Given the description of an element on the screen output the (x, y) to click on. 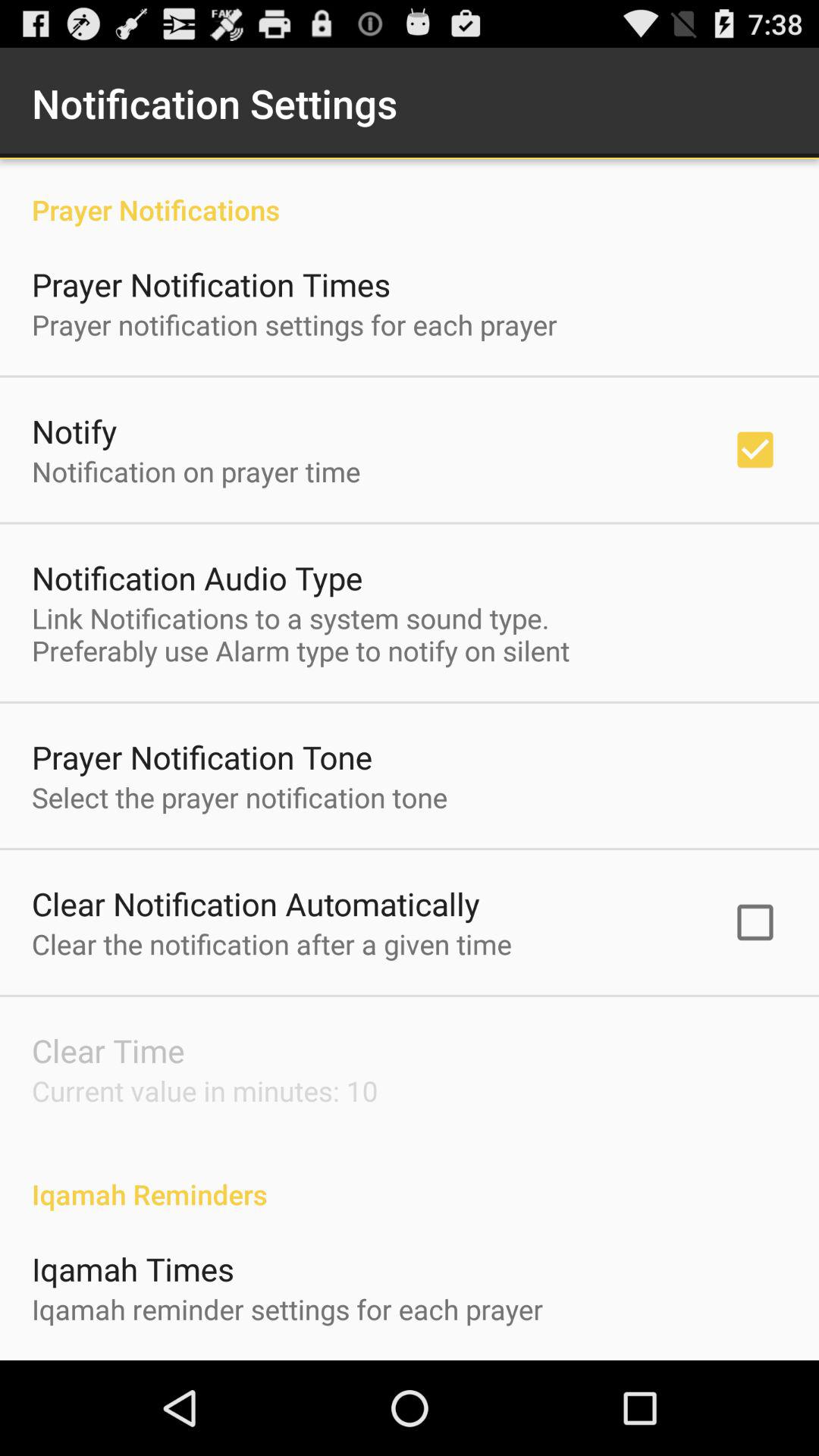
tap the link notifications to at the center (300, 634)
